Given the description of an element on the screen output the (x, y) to click on. 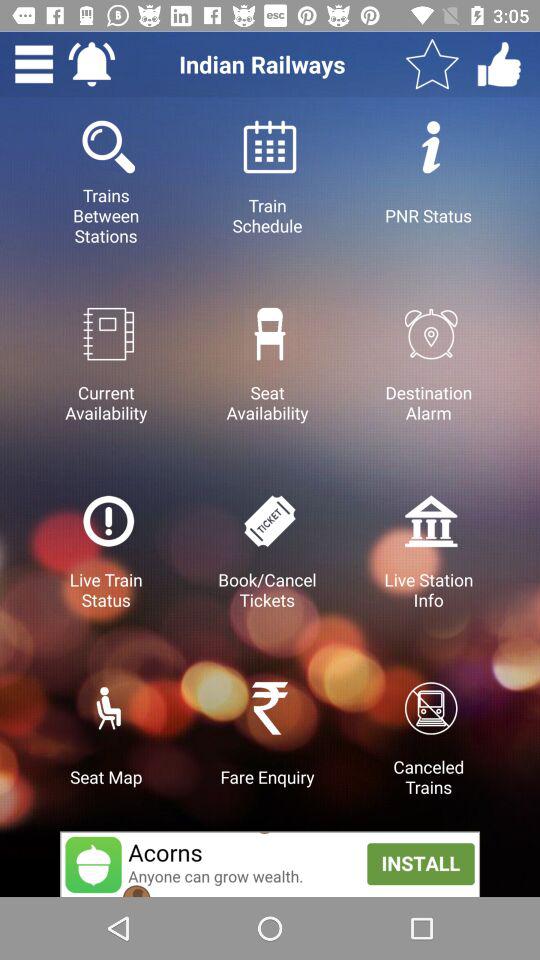
like this company to become a preferred option (499, 64)
